Given the description of an element on the screen output the (x, y) to click on. 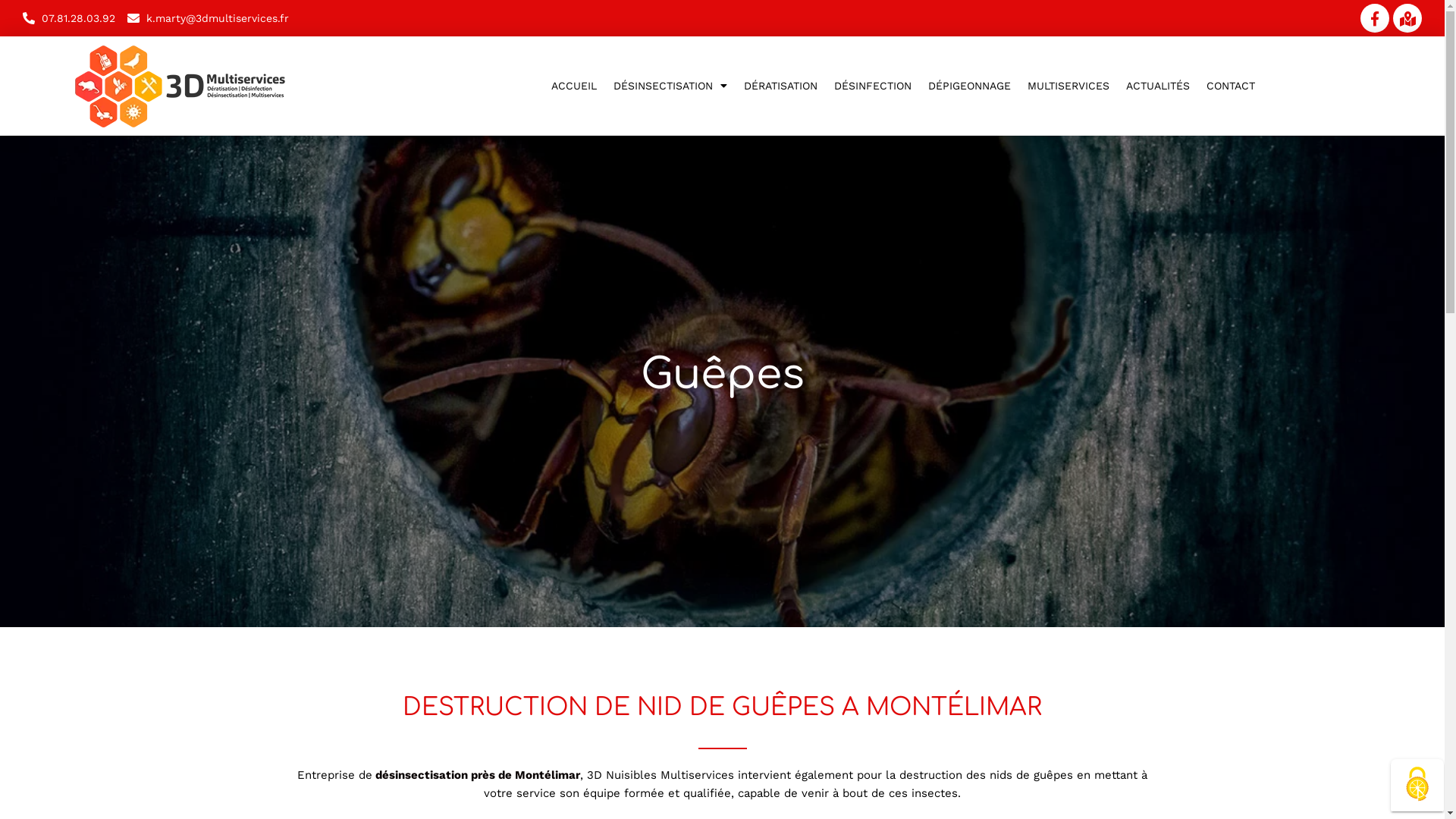
MULTISERVICES Element type: text (1068, 85)
ACCUEIL Element type: text (573, 85)
07.81.28.03.92 Element type: text (68, 18)
CONTACT Element type: text (1230, 85)
k.marty@3dmultiservices.fr Element type: text (207, 18)
